Given the description of an element on the screen output the (x, y) to click on. 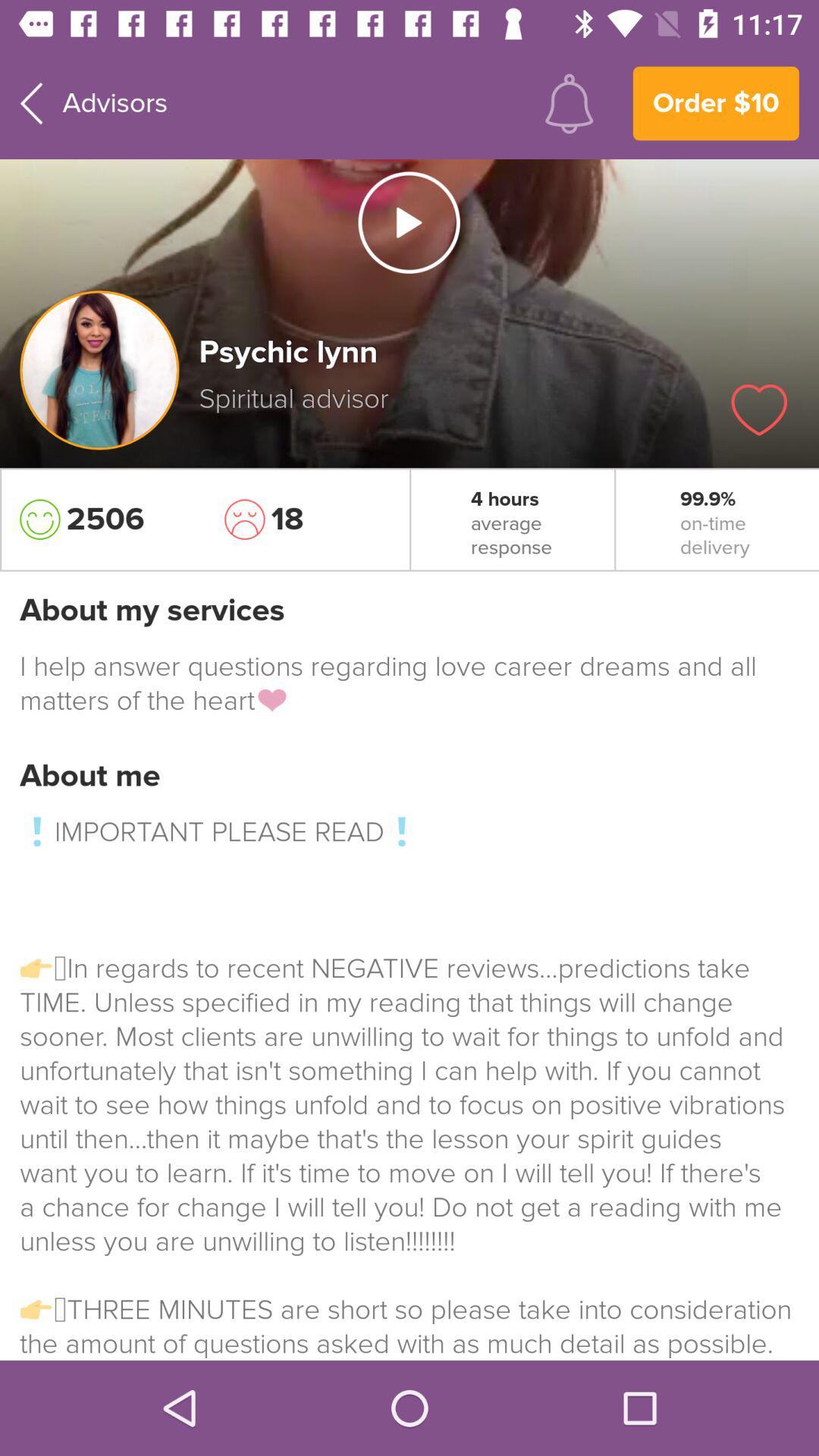
love this advisor (759, 409)
